Given the description of an element on the screen output the (x, y) to click on. 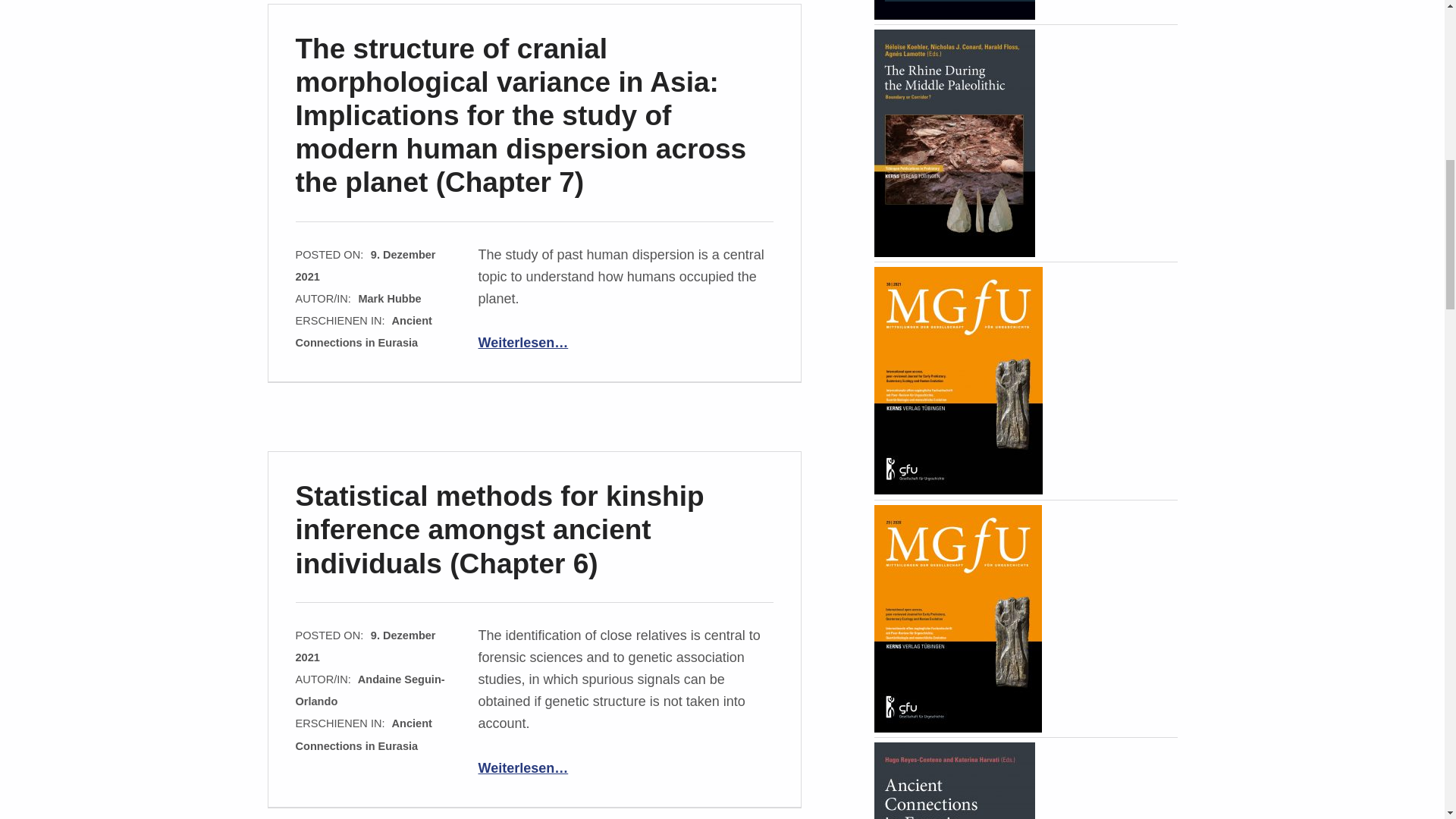
Posted on: 9. Dezember 2021 (365, 646)
Posted on: 9. Dezember 2021 (365, 265)
Ancient Connections in Eurasia (363, 331)
9. Dezember 2021 (365, 265)
